Given the description of an element on the screen output the (x, y) to click on. 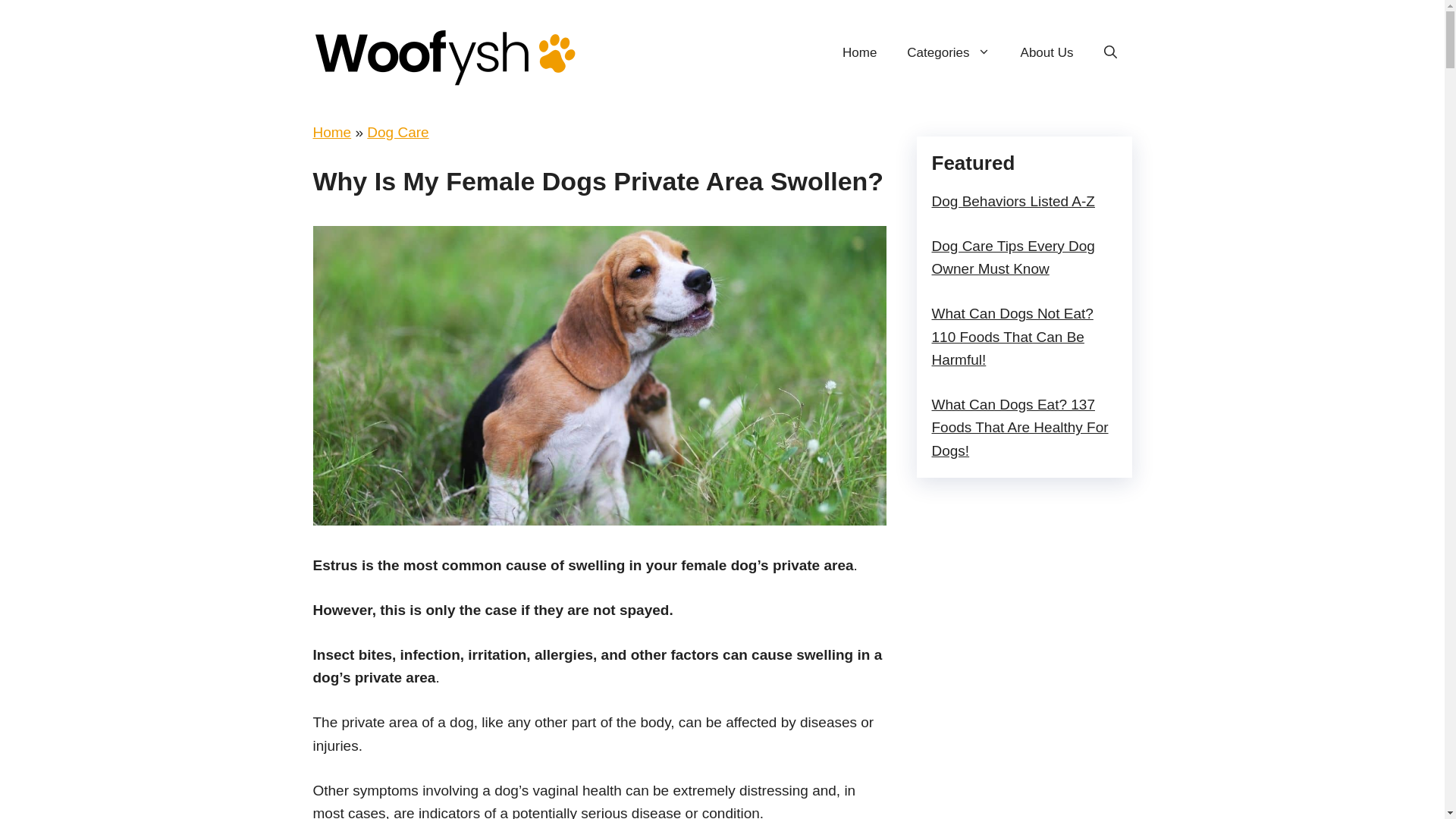
Categories (947, 53)
Dog Care (397, 132)
Home (859, 53)
Home (331, 132)
About Us (1047, 53)
